Given the description of an element on the screen output the (x, y) to click on. 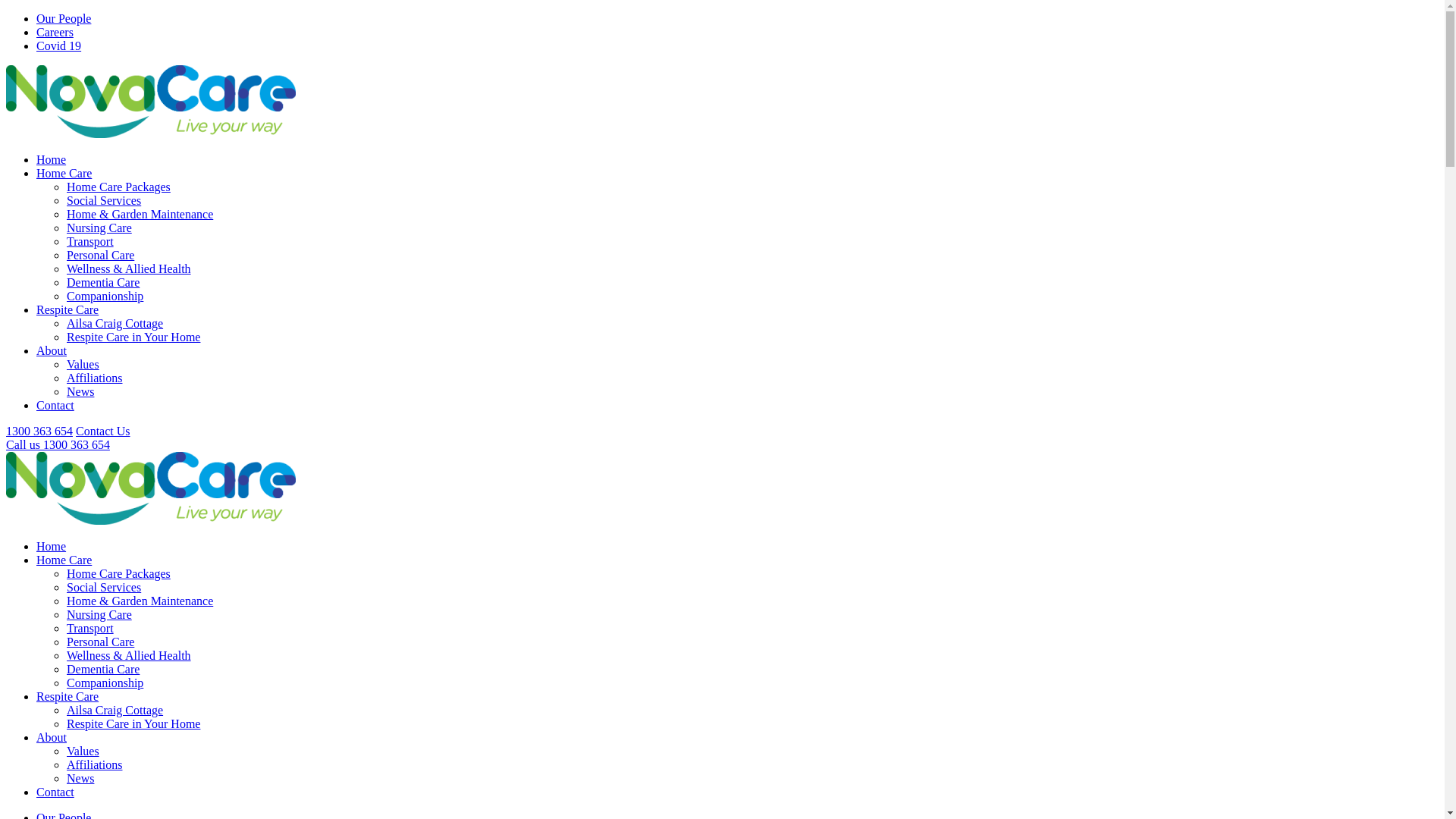
Contact Element type: text (55, 791)
Transport Element type: text (89, 241)
Personal Care Element type: text (100, 254)
Ailsa Craig Cottage Element type: text (114, 322)
Respite Care in Your Home Element type: text (133, 723)
Call us 1300 363 654 Element type: text (57, 444)
Home Care Packages Element type: text (118, 573)
Dementia Care Element type: text (102, 282)
Ailsa Craig Cottage Element type: text (114, 709)
Respite Care in Your Home Element type: text (133, 336)
1300 363 654 Element type: text (39, 430)
News Element type: text (80, 777)
Careers Element type: text (54, 31)
Transport Element type: text (89, 627)
Personal Care Element type: text (100, 641)
Covid 19 Element type: text (58, 45)
Wellness & Allied Health Element type: text (128, 268)
Values Element type: text (82, 363)
Contact Element type: text (55, 404)
Nursing Care Element type: text (98, 614)
Social Services Element type: text (103, 586)
Home & Garden Maintenance Element type: text (139, 213)
About Element type: text (51, 350)
Home Care Element type: text (63, 172)
Wellness & Allied Health Element type: text (128, 655)
Home Element type: text (50, 545)
About Element type: text (51, 737)
Home & Garden Maintenance Element type: text (139, 600)
Respite Care Element type: text (67, 309)
Contact Us Element type: text (102, 430)
Affiliations Element type: text (94, 377)
Social Services Element type: text (103, 200)
Nursing Care Element type: text (98, 227)
Home Care Element type: text (63, 559)
Dementia Care Element type: text (102, 668)
Companionship Element type: text (104, 295)
Home Element type: text (50, 159)
Our People Element type: text (63, 18)
News Element type: text (80, 391)
Respite Care Element type: text (67, 696)
Values Element type: text (82, 750)
NovaCare Element type: hover (150, 101)
Affiliations Element type: text (94, 764)
Companionship Element type: text (104, 682)
Home Care Packages Element type: text (118, 186)
NovaCare Element type: hover (150, 487)
